Given the description of an element on the screen output the (x, y) to click on. 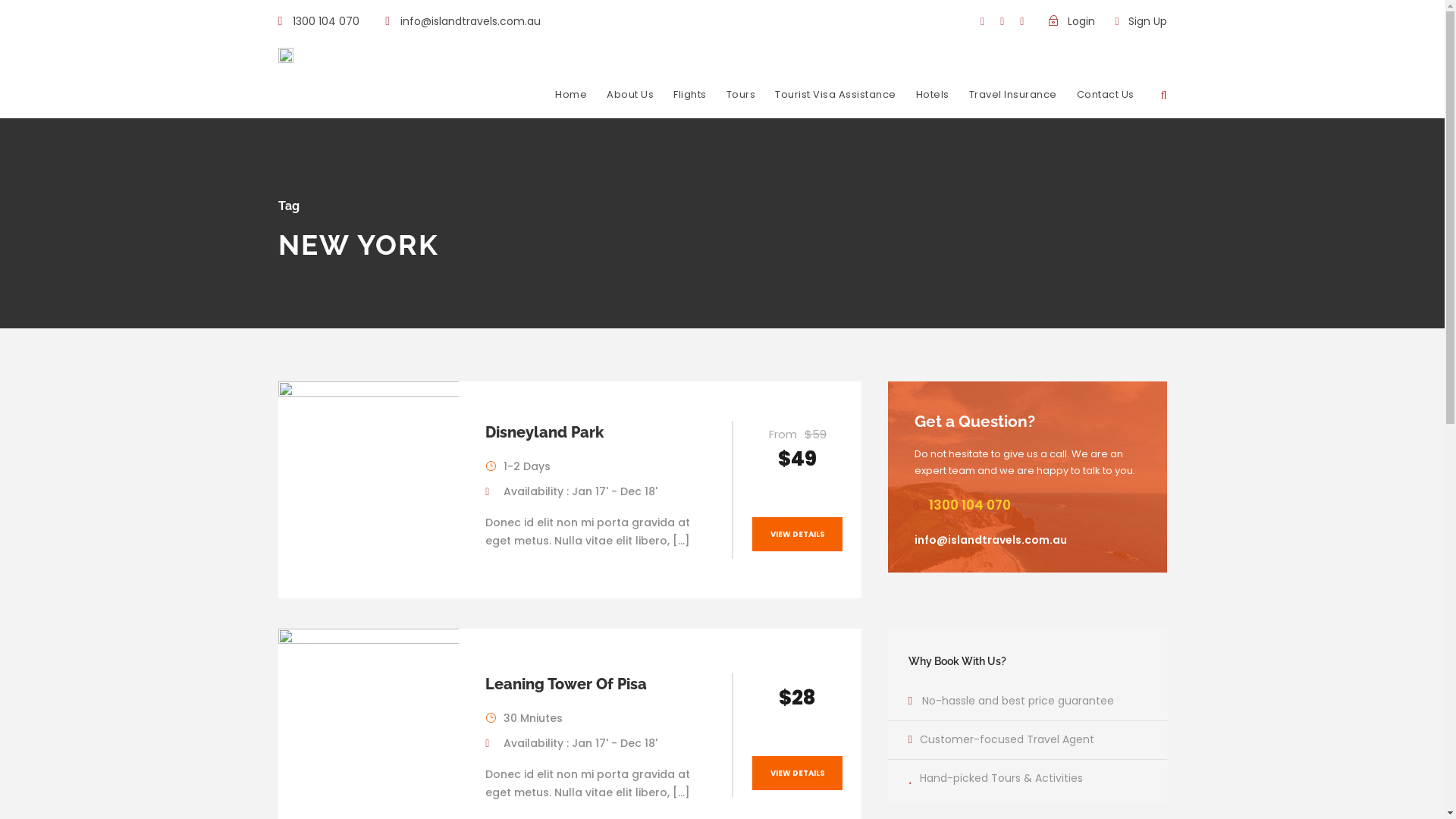
About Us Element type: text (629, 102)
logo1 Element type: hover (284, 54)
flickr Element type: hover (1002, 20)
Contact Us Element type: text (1105, 102)
VIEW DETAILS Element type: text (797, 773)
Tours Element type: text (741, 102)
VIEW DETAILS Element type: text (797, 534)
Flights Element type: text (689, 102)
Hotels Element type: text (932, 102)
Tourist Visa Assistance Element type: text (835, 102)
Disneyland Park Element type: text (544, 432)
Home Element type: text (570, 102)
Leaning Tower Of Pisa Element type: text (565, 683)
google-plus Element type: hover (1021, 20)
facebook Element type: hover (982, 20)
Travel Insurance Element type: text (1013, 102)
